Given the description of an element on the screen output the (x, y) to click on. 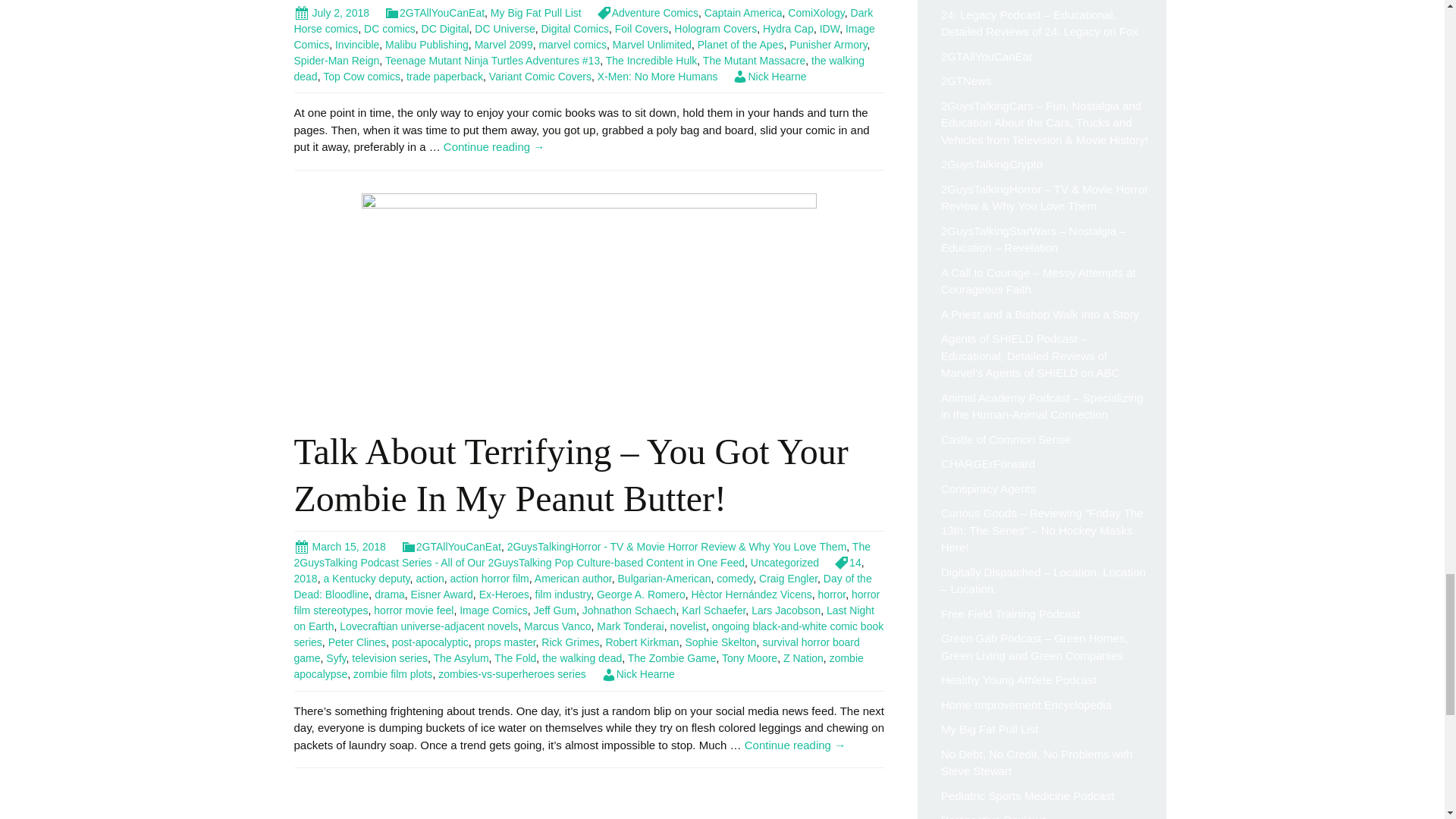
View all posts by Nick Hearne (769, 76)
Permalink to The Changing World Of Comics (331, 12)
View all posts by Nick Hearne (638, 674)
